Given the description of an element on the screen output the (x, y) to click on. 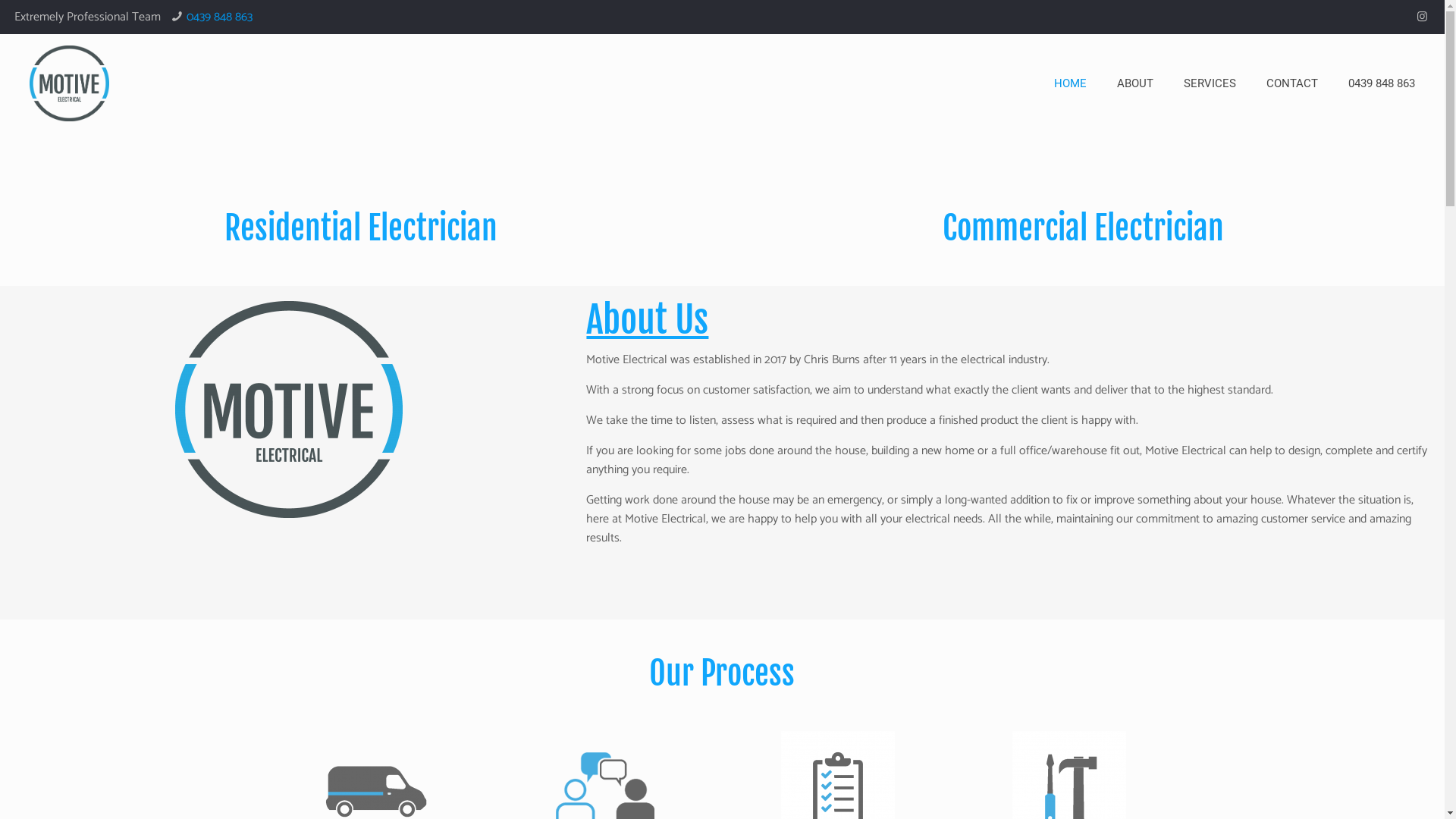
0439 848 863 Element type: text (1381, 83)
Instagram Element type: hover (1422, 16)
HOME Element type: text (1069, 83)
ABOUT Element type: text (1134, 83)
motive-logo-grey-text-300x286 Element type: hover (288, 409)
SERVICES Element type: text (1209, 83)
0439 848 863 Element type: text (219, 16)
CONTACT Element type: text (1292, 83)
Motive Electrical Element type: hover (69, 83)
